Given the description of an element on the screen output the (x, y) to click on. 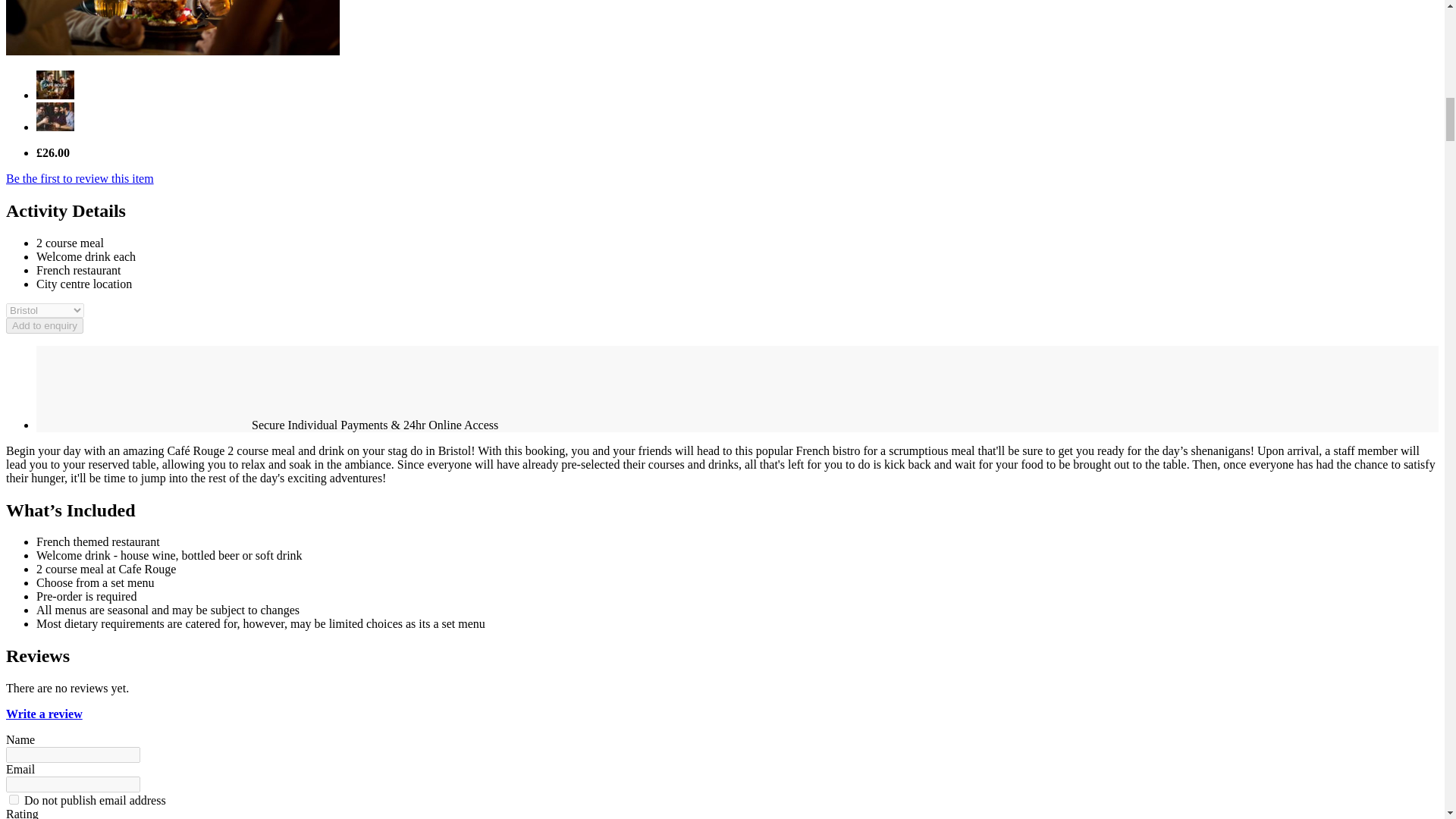
French Meal Cafe Rouge Stag Experience (55, 126)
Add to enquiry (43, 325)
1 (13, 799)
